Given the description of an element on the screen output the (x, y) to click on. 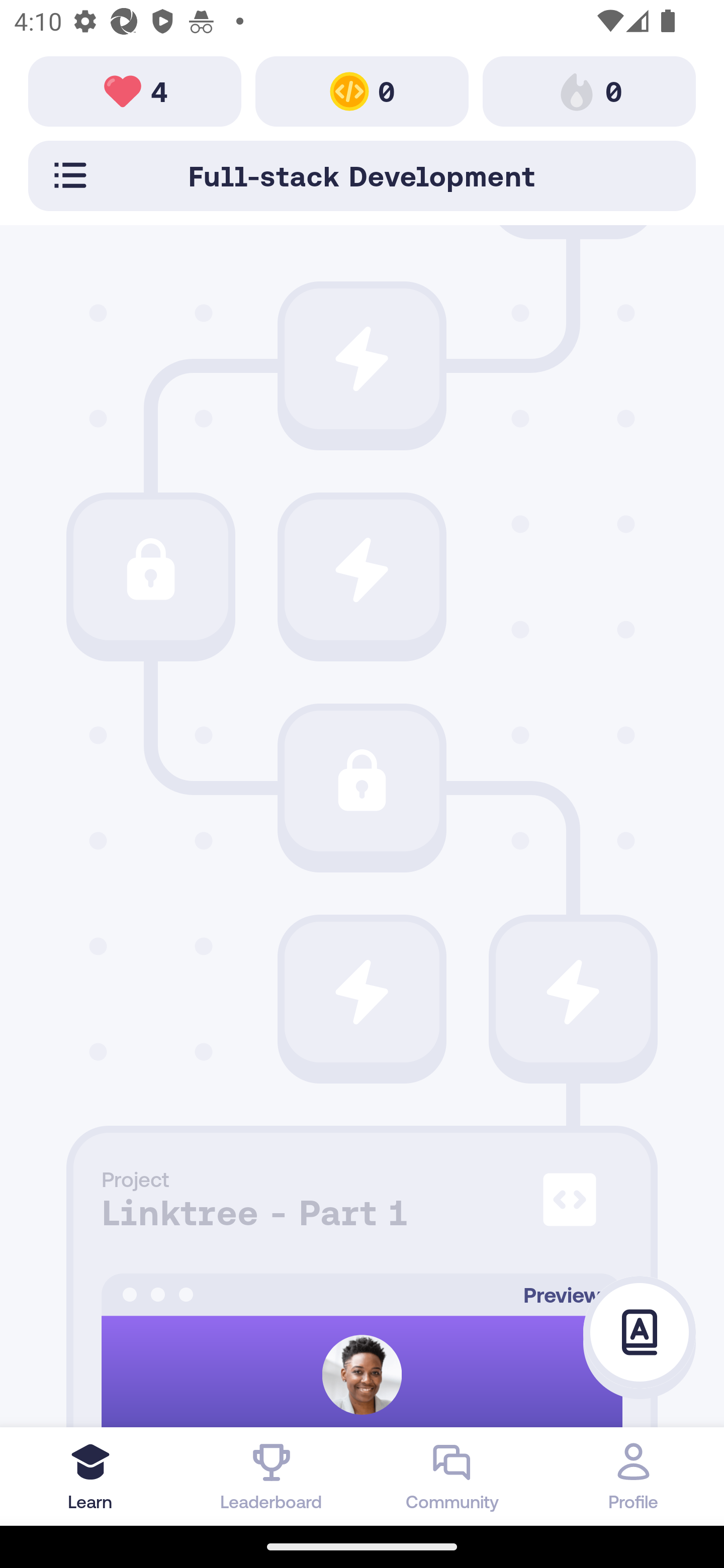
Path Toolbar Image 4 (134, 90)
Path Toolbar Image 0 (361, 90)
Path Toolbar Image 0 (588, 90)
Path Toolbar Selector Full-stack Development (361, 175)
Glossary Icon (639, 1332)
Leaderboard (271, 1475)
Community (452, 1475)
Profile (633, 1475)
